Given the description of an element on the screen output the (x, y) to click on. 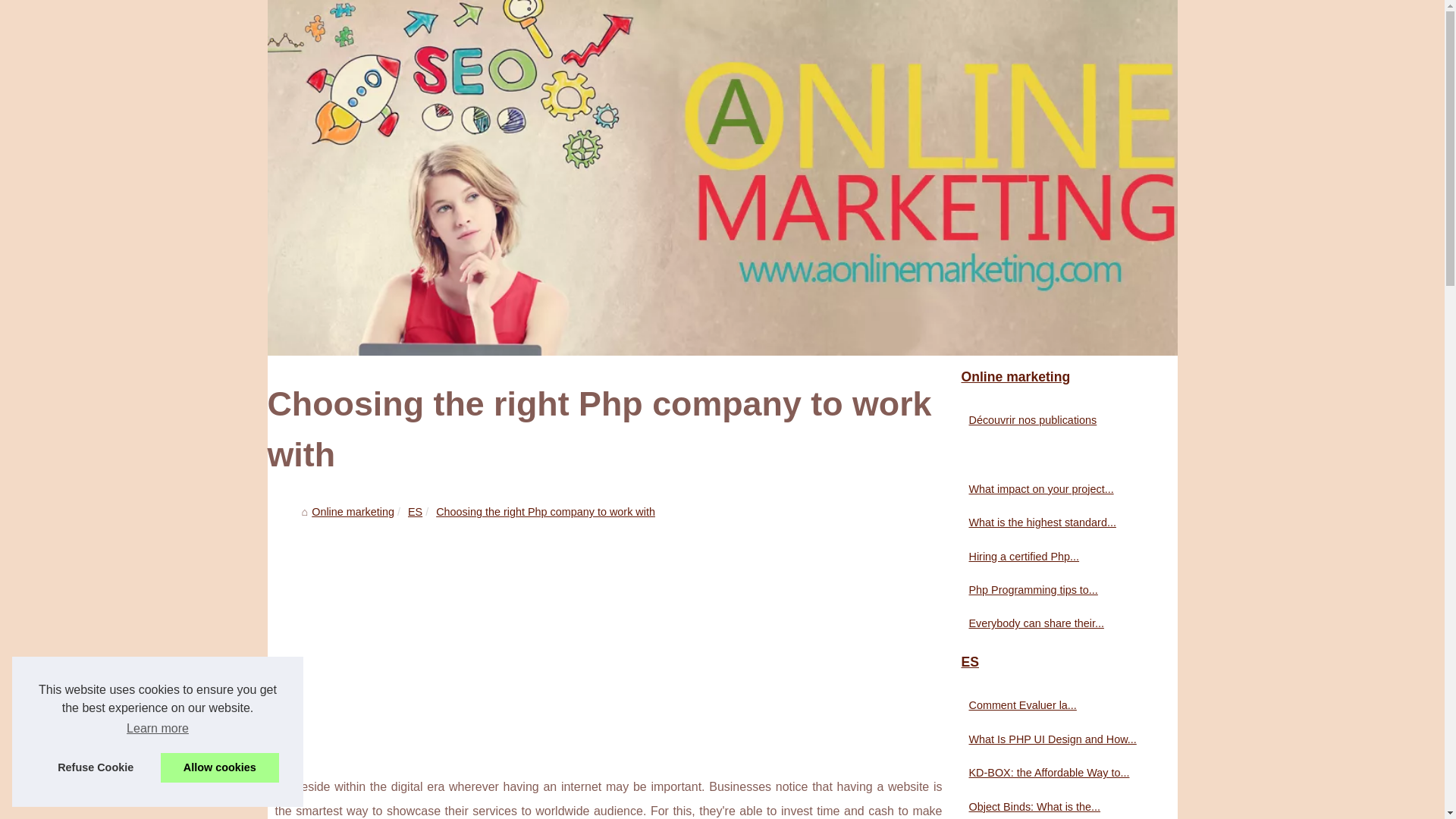
Choosing the right Php company to work with (545, 511)
Allow cookies (219, 767)
Hiring a certified Php... (1055, 556)
Object Binds: What is the... (1055, 806)
ES (414, 511)
Php Programming tips to... (1055, 589)
Comment Evaluer la... (1055, 705)
Online marketing (1062, 377)
What impact on your project... (1055, 488)
